Given the description of an element on the screen output the (x, y) to click on. 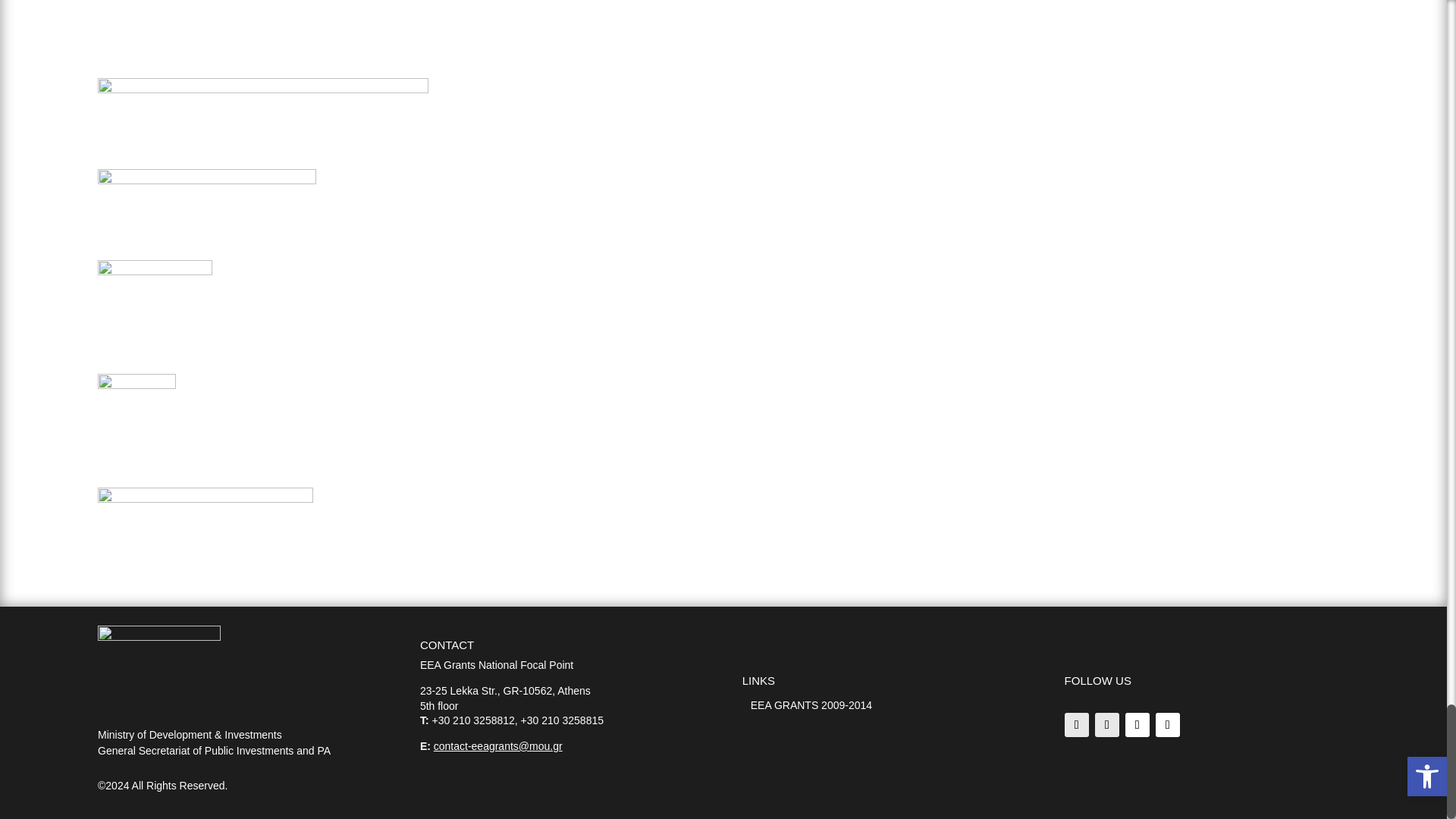
Follow on LinkedIn (1137, 724)
Follow on Youtube (1167, 724)
Follow on X (1106, 724)
Follow on Facebook (1076, 724)
